Given the description of an element on the screen output the (x, y) to click on. 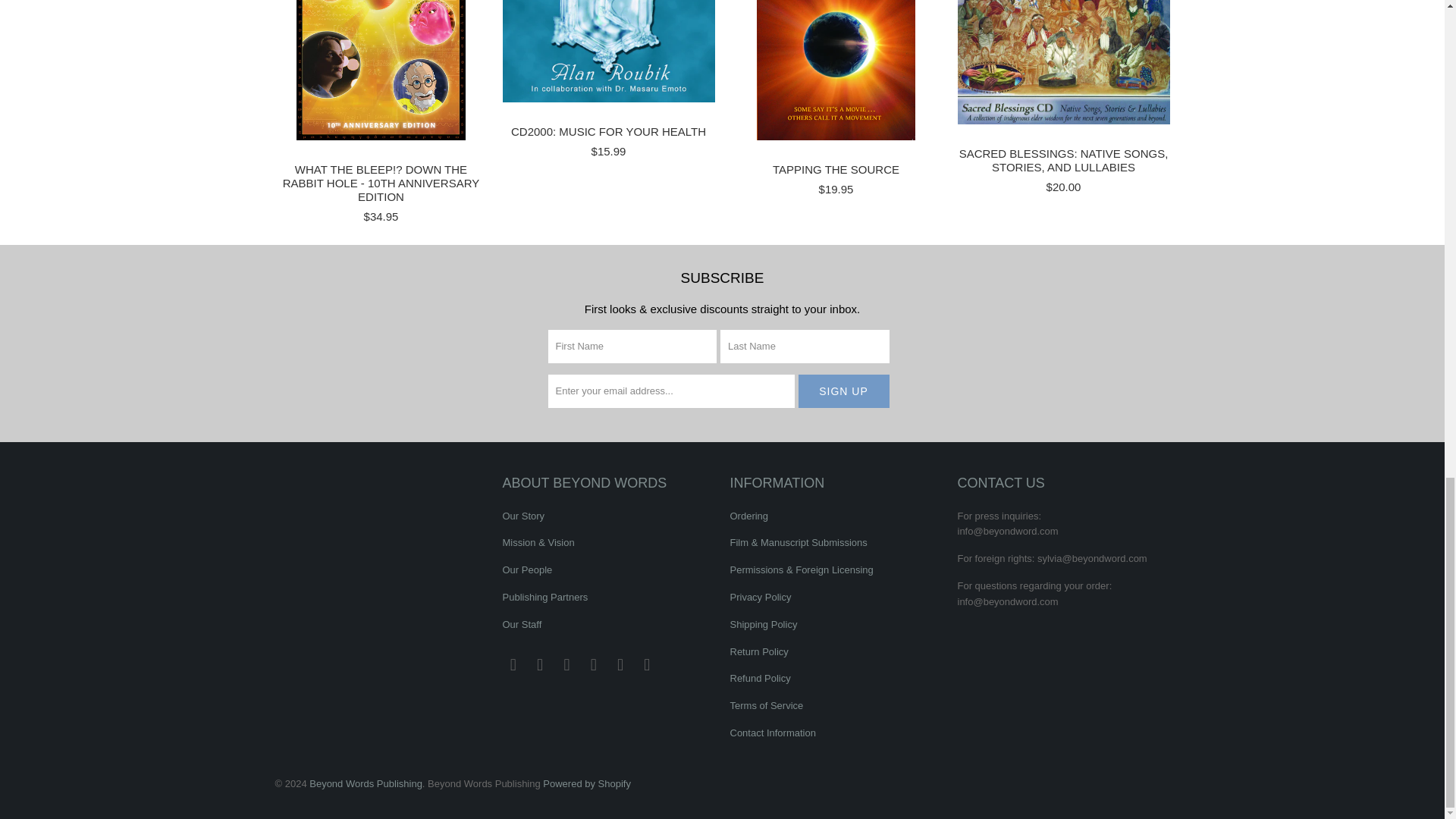
Sign Up (842, 390)
